Given the description of an element on the screen output the (x, y) to click on. 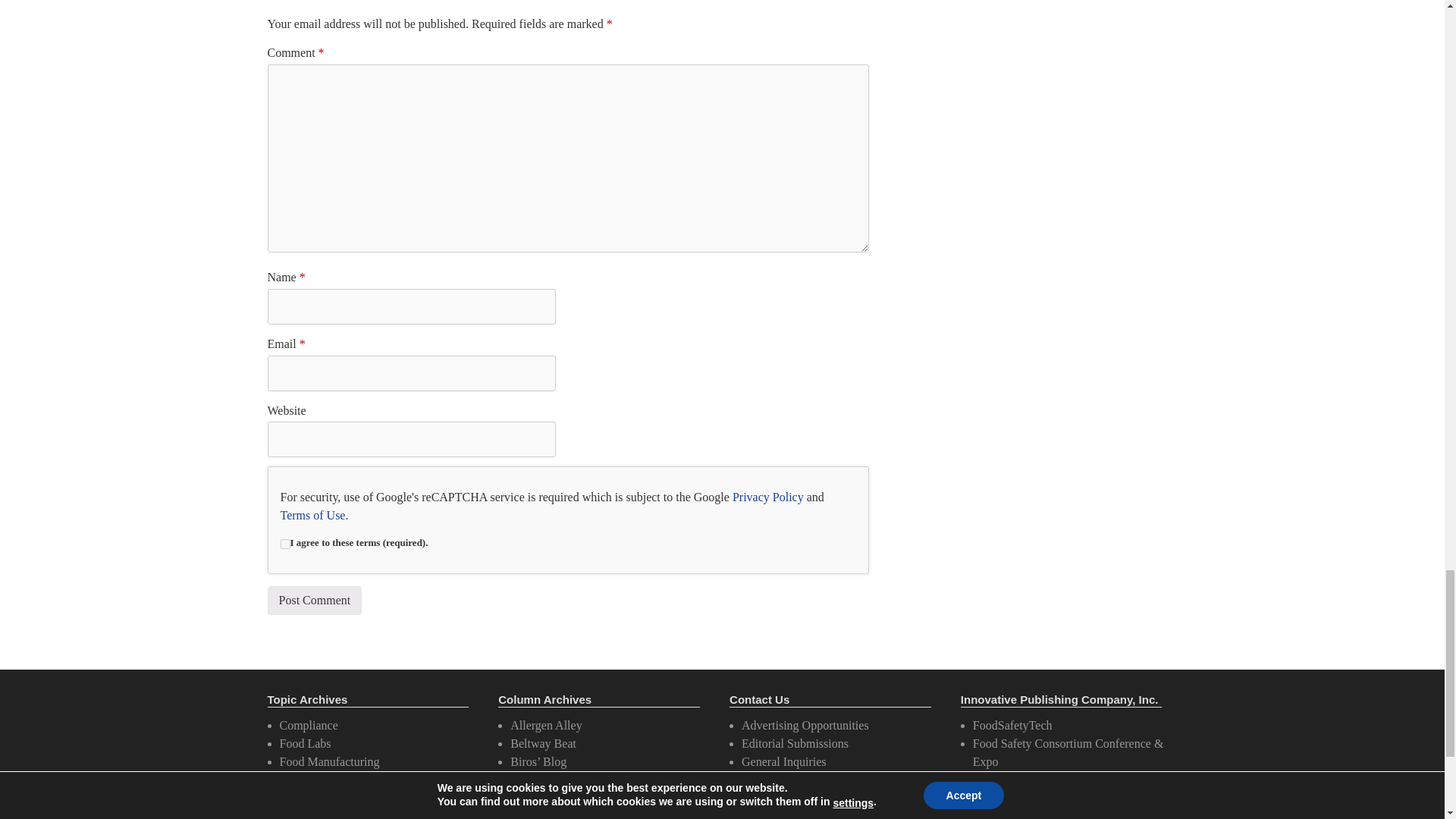
Post Comment (313, 600)
on (285, 543)
